Given the description of an element on the screen output the (x, y) to click on. 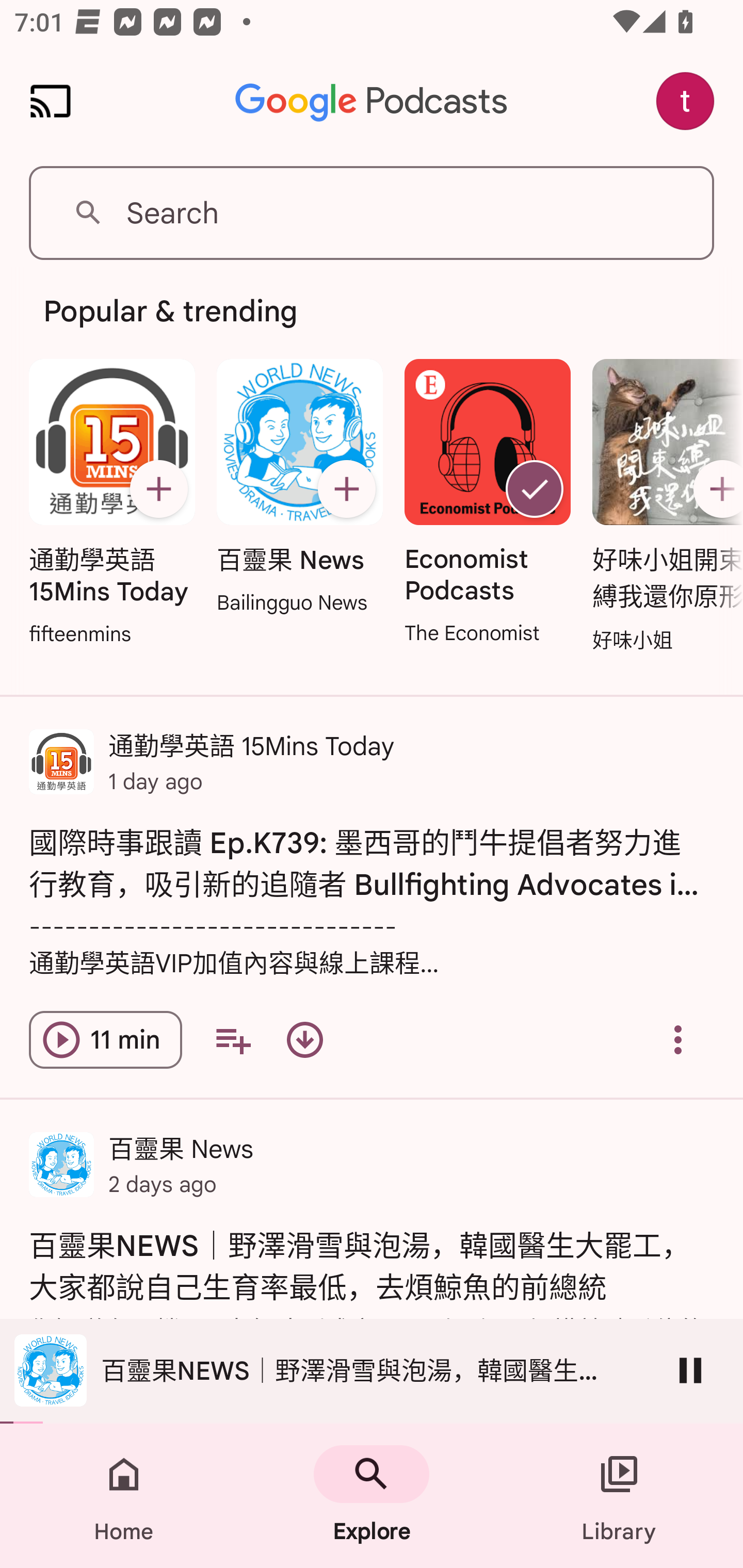
Cast. Disconnected (50, 101)
Search (371, 212)
百靈果 News Subscribe 百靈果 News Bailingguo News (299, 488)
好味小姐開束縛我還你原形 Subscribe 好味小姐開束縛我還你原形 好味小姐 (662, 507)
Subscribe (158, 489)
Subscribe (346, 489)
Unsubscribe (534, 489)
Subscribe (714, 489)
Add to your queue (232, 1040)
Download episode (304, 1040)
Overflow menu (677, 1040)
Pause (690, 1370)
Home (123, 1495)
Library (619, 1495)
